Given the description of an element on the screen output the (x, y) to click on. 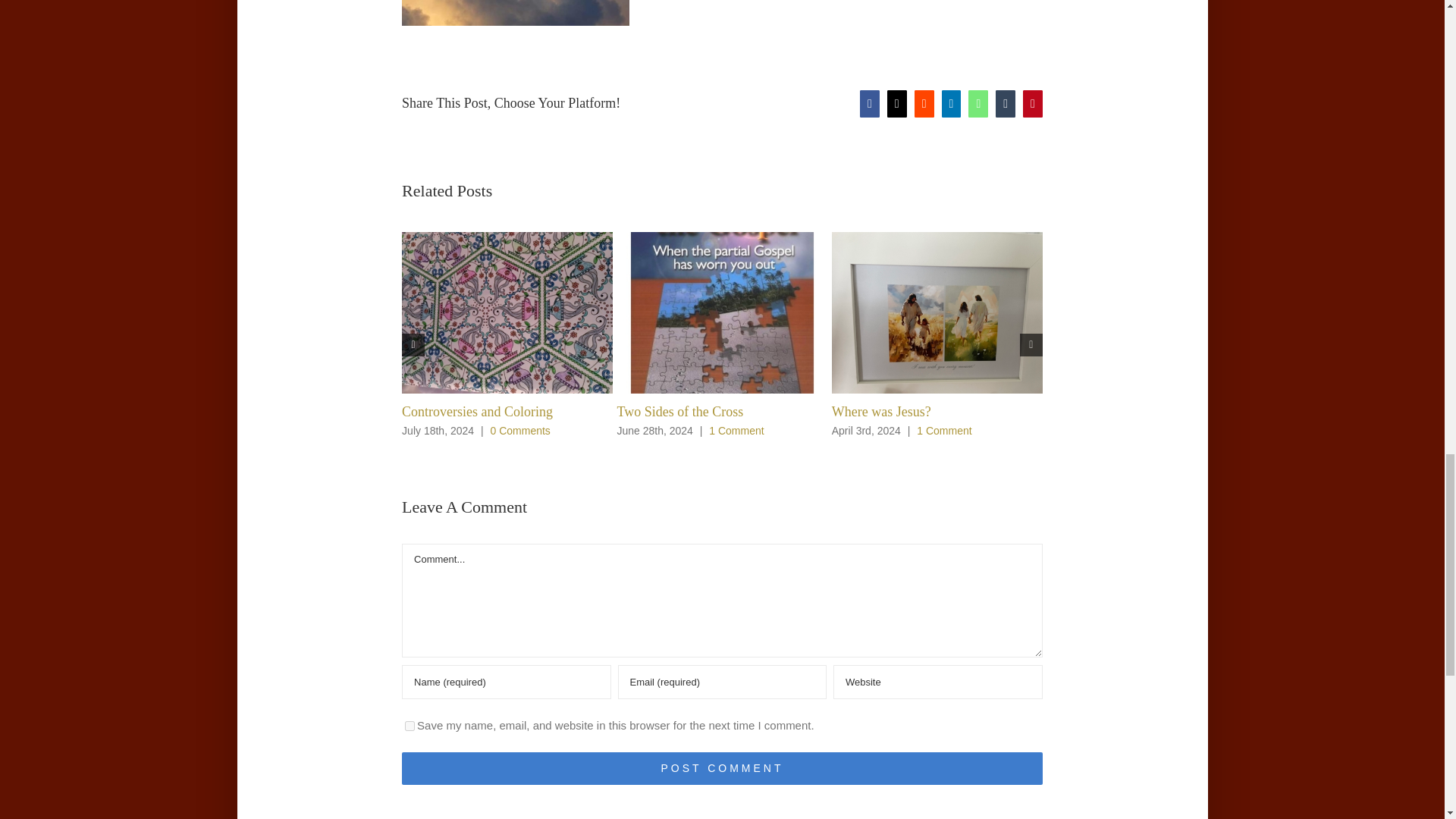
Where was Jesus? (881, 411)
yes (409, 726)
Two Sides of the Cross (678, 411)
0 Comments (519, 430)
Controversies and Coloring (477, 411)
Controversies and Coloring (477, 411)
Two Sides of the Cross (678, 411)
Post Comment (721, 768)
